Given the description of an element on the screen output the (x, y) to click on. 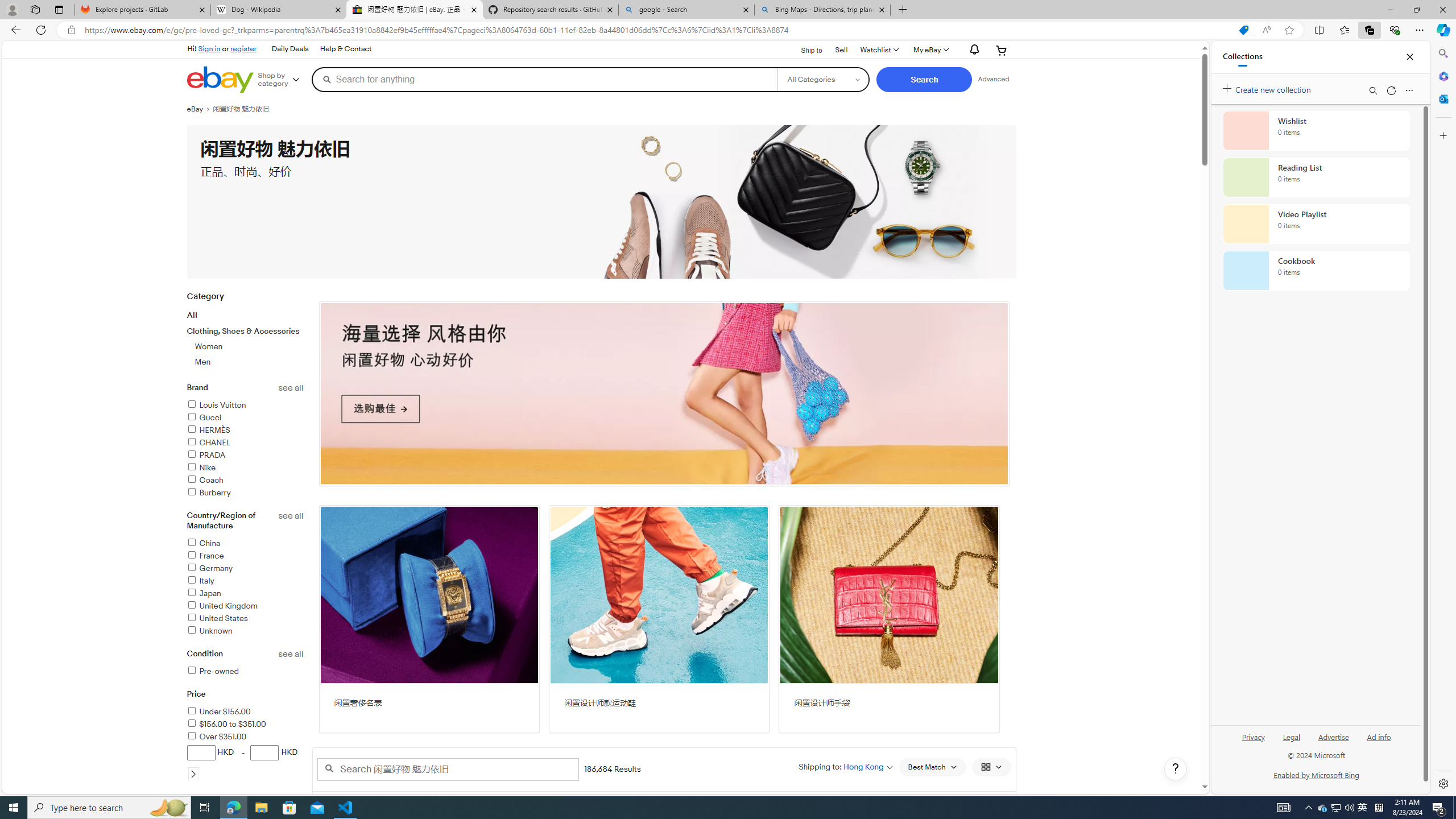
See all condition refinements (291, 654)
Shipping to: Hong Kong (845, 766)
Unknown (245, 631)
Shop by category (282, 79)
Ship to (804, 50)
Germany (245, 568)
Help, opens dialogs (1175, 768)
China (203, 542)
eBay Home (219, 79)
You have the best price! (1199, 29)
